Given the description of an element on the screen output the (x, y) to click on. 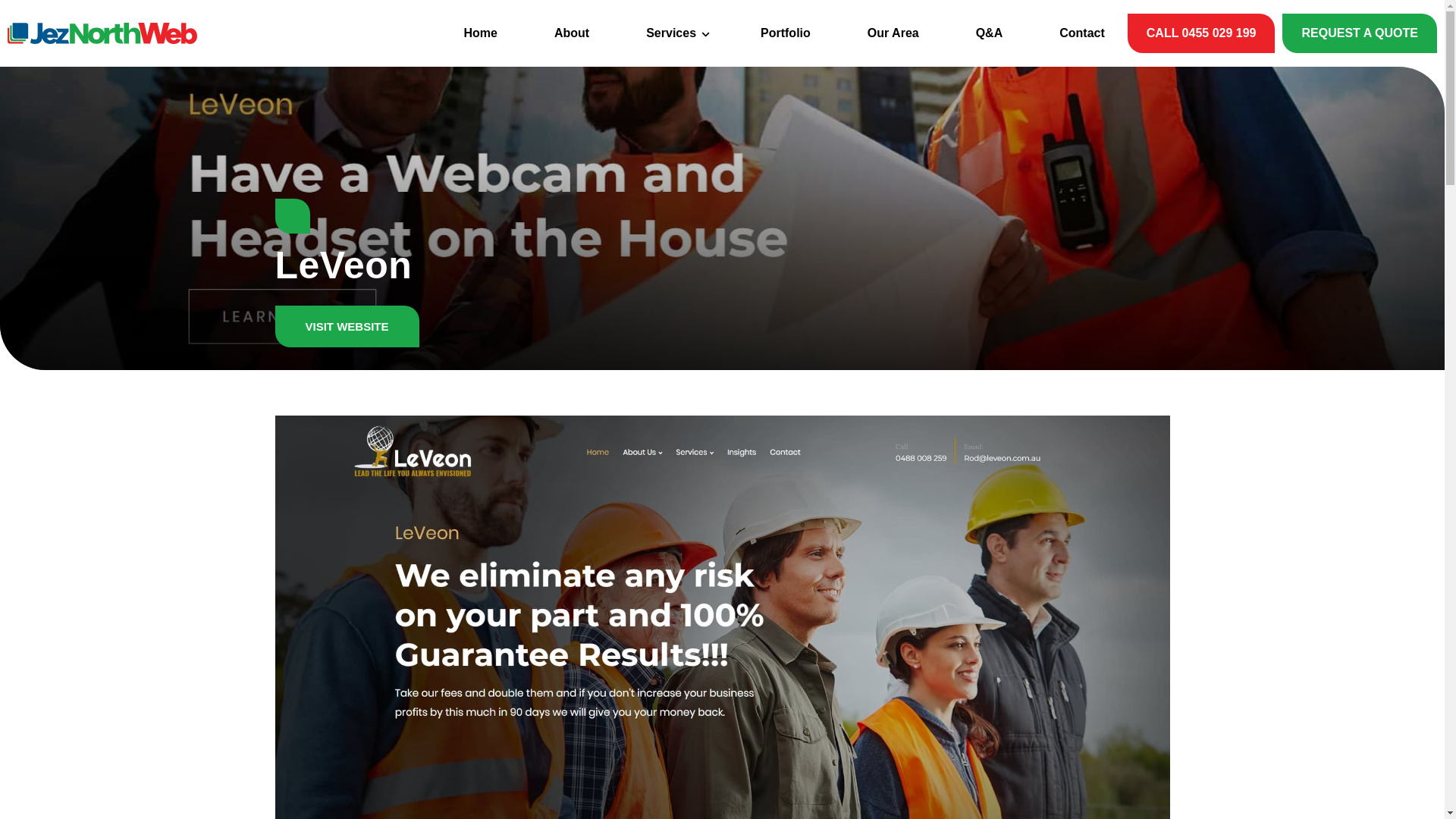
Home Element type: text (480, 33)
Our Area Element type: text (893, 33)
VISIT WEBSITE Element type: text (346, 326)
CALL 0455 029 199 Element type: text (1201, 33)
Q&A Element type: text (989, 33)
Contact Element type: text (1081, 33)
Services Element type: text (674, 33)
REQUEST A QUOTE Element type: text (1359, 33)
Portfolio Element type: text (785, 33)
About Element type: text (571, 33)
